Given the description of an element on the screen output the (x, y) to click on. 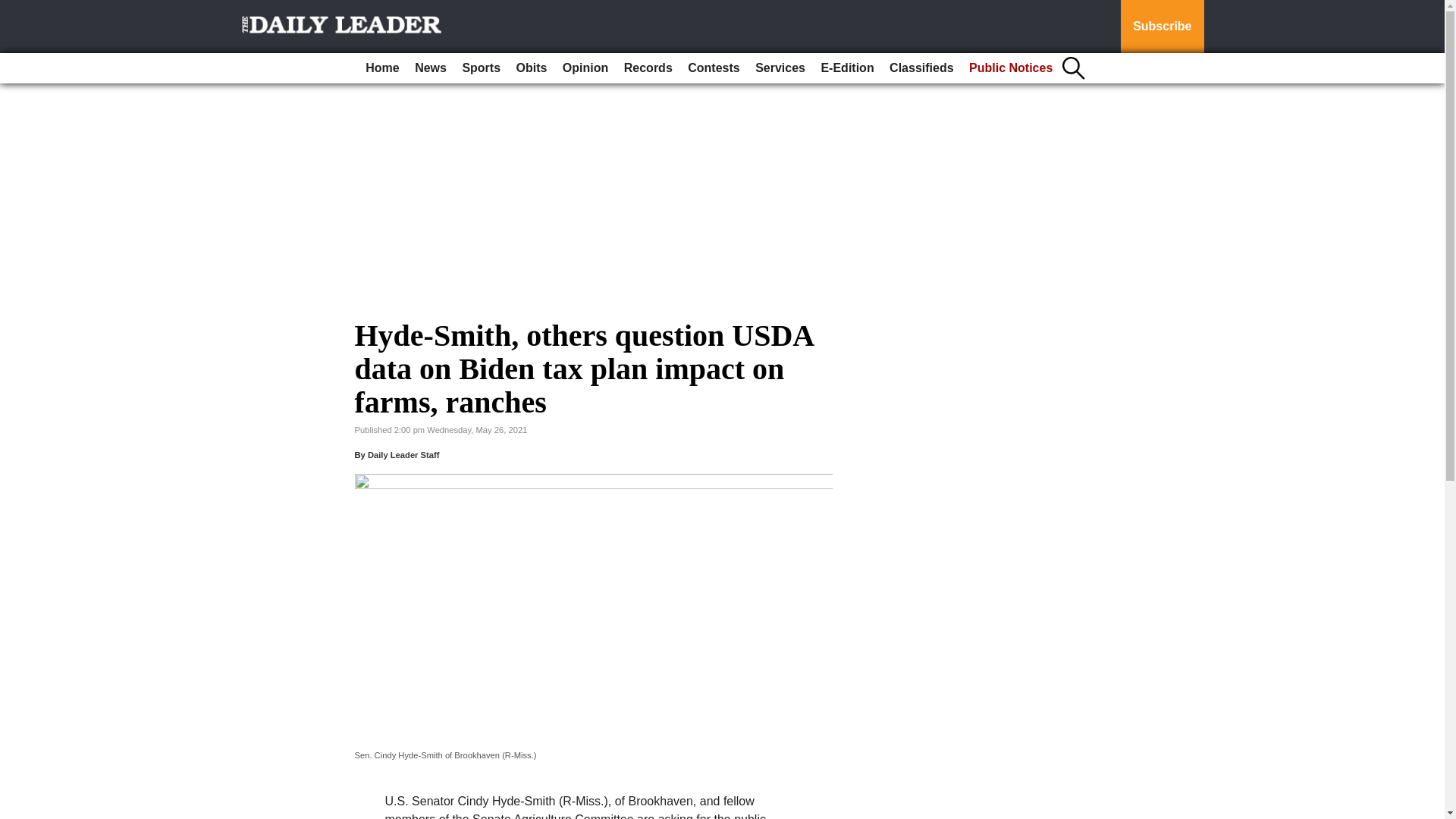
Daily Leader Staff (403, 454)
Sports (480, 68)
Public Notices (1010, 68)
E-Edition (846, 68)
Classifieds (921, 68)
News (430, 68)
Obits (532, 68)
Subscribe (1162, 26)
Go (13, 9)
Contests (713, 68)
Services (779, 68)
Home (381, 68)
Records (647, 68)
Opinion (585, 68)
